Given the description of an element on the screen output the (x, y) to click on. 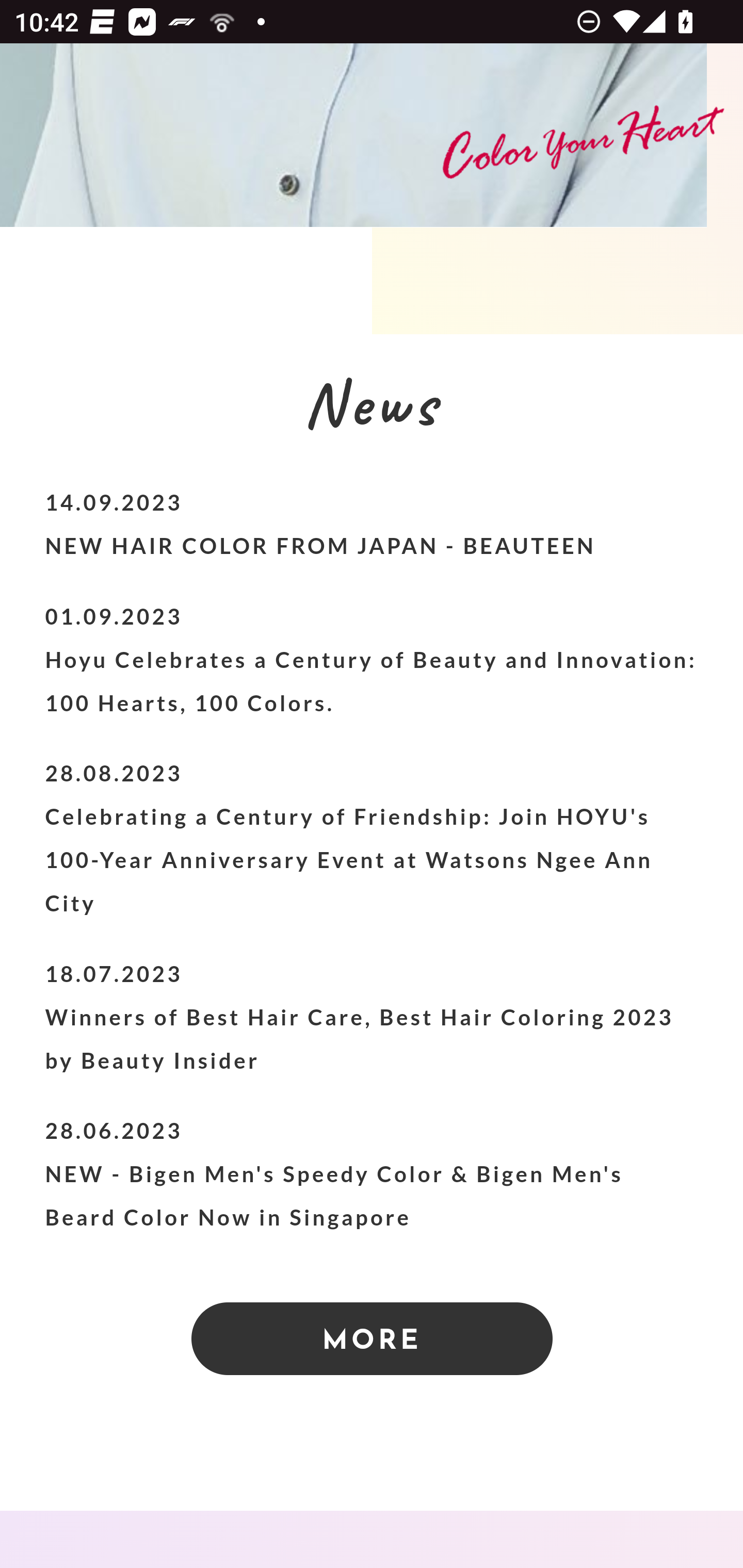
NEW HAIR COLOR FROM JAPAN - BEAUTEEN (320, 547)
MORE (371, 1339)
